Given the description of an element on the screen output the (x, y) to click on. 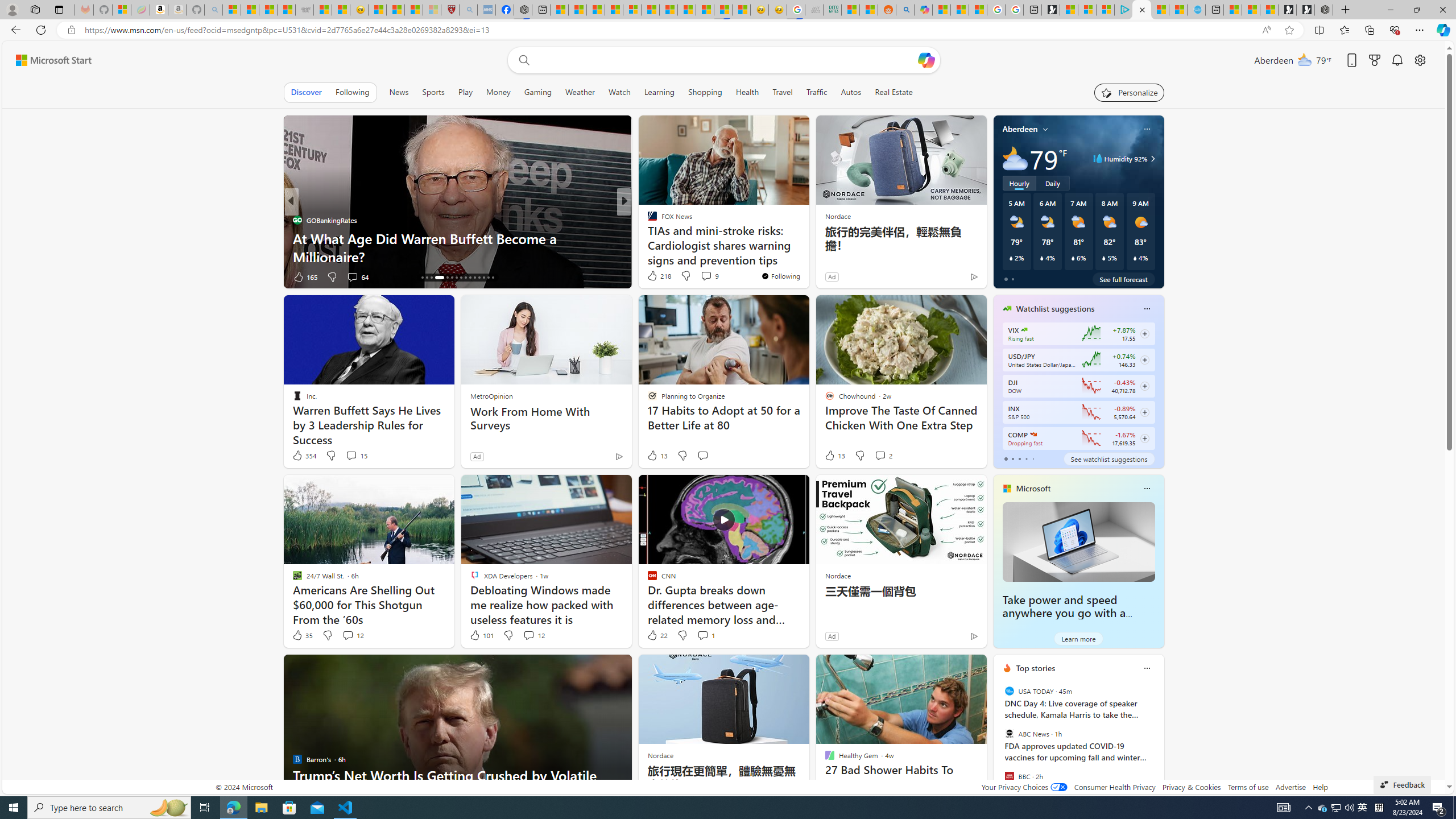
354 Like (303, 455)
Deseret News (647, 238)
View comments 167 Comment (709, 276)
AutomationID: tab-21 (451, 277)
